Given the description of an element on the screen output the (x, y) to click on. 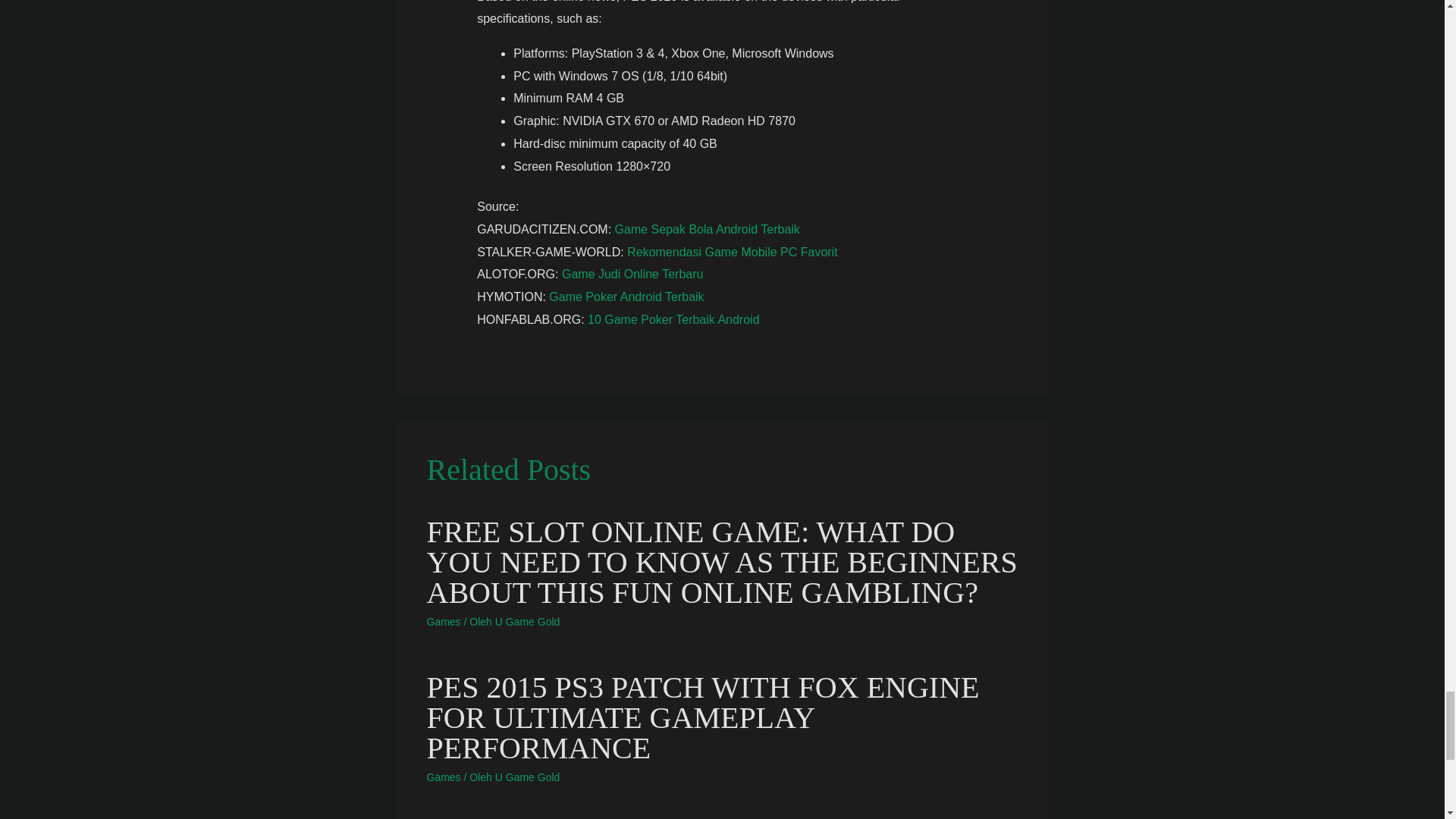
Game Sepak Bola Android Terbaik (706, 228)
Lihat seluruh tulisan oleh U Game Gold (527, 621)
Rekomendasi Game Mobile PC Favorit (732, 251)
Lihat seluruh tulisan oleh U Game Gold (527, 776)
